Given the description of an element on the screen output the (x, y) to click on. 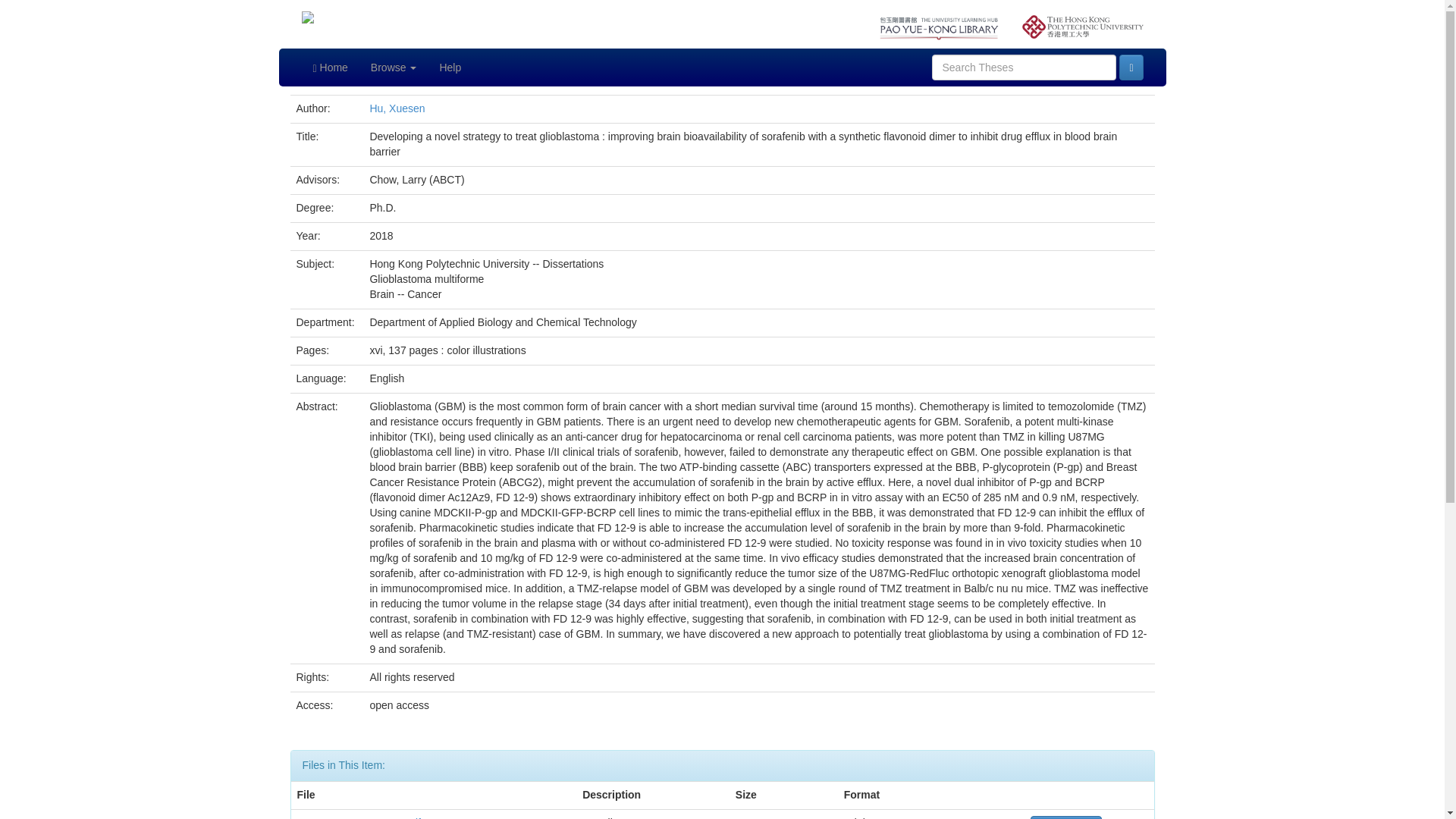
Home (330, 67)
991022095452803411.pdf (359, 817)
Help (449, 67)
Hu, Xuesen (397, 108)
Browse (393, 67)
